Given the description of an element on the screen output the (x, y) to click on. 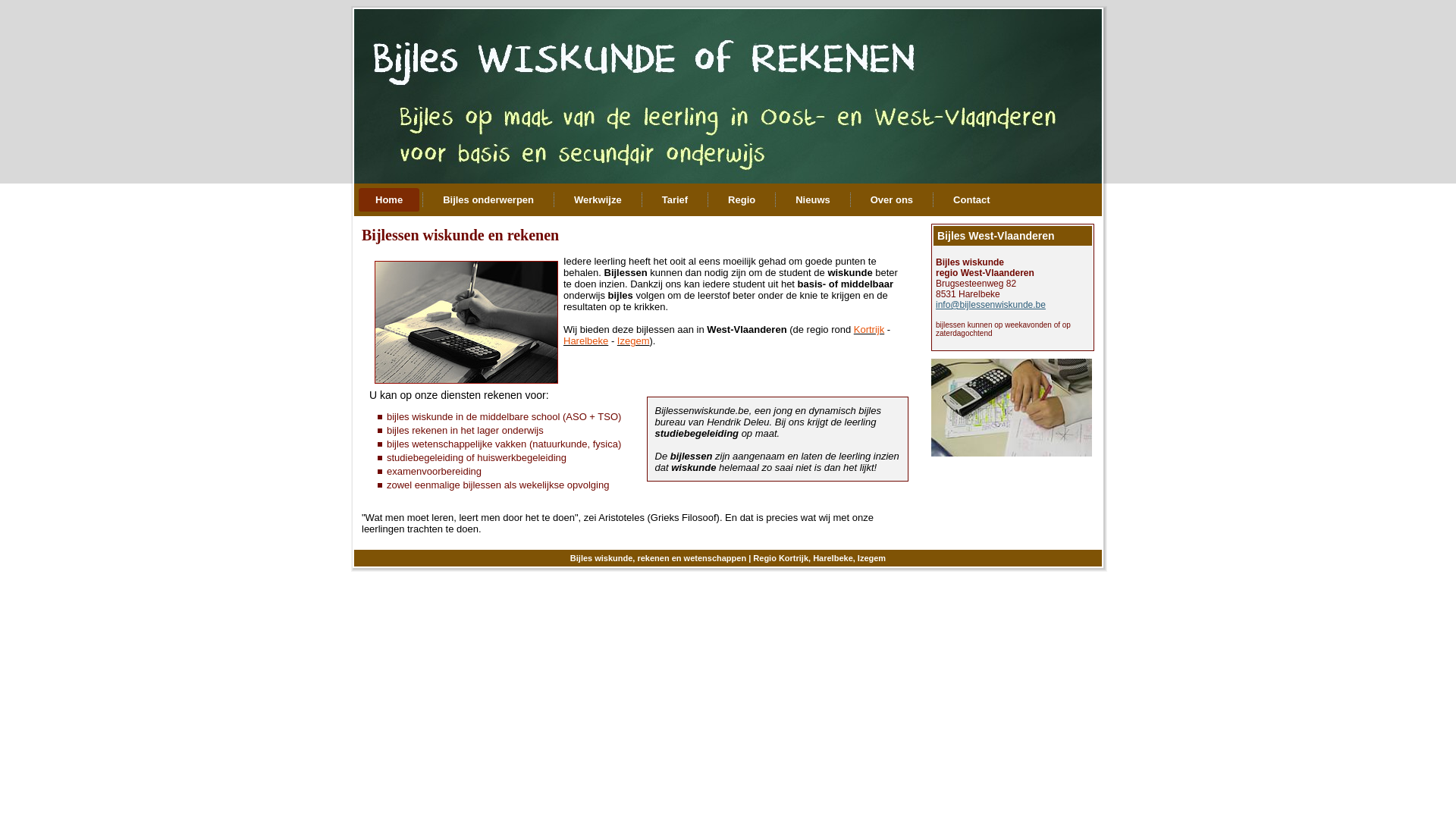
Contact Element type: text (971, 199)
Bijles onderwerpen Element type: text (488, 199)
Kortrijk Element type: text (868, 329)
info@bijlessenwiskunde.be Element type: text (990, 304)
Harelbeke Element type: text (585, 340)
Home Element type: text (388, 199)
Over ons Element type: text (891, 199)
Tarief Element type: text (674, 199)
Regio Element type: text (741, 199)
Nieuws Element type: text (812, 199)
Izegem Element type: text (633, 340)
Werkwijze Element type: text (597, 199)
